Given the description of an element on the screen output the (x, y) to click on. 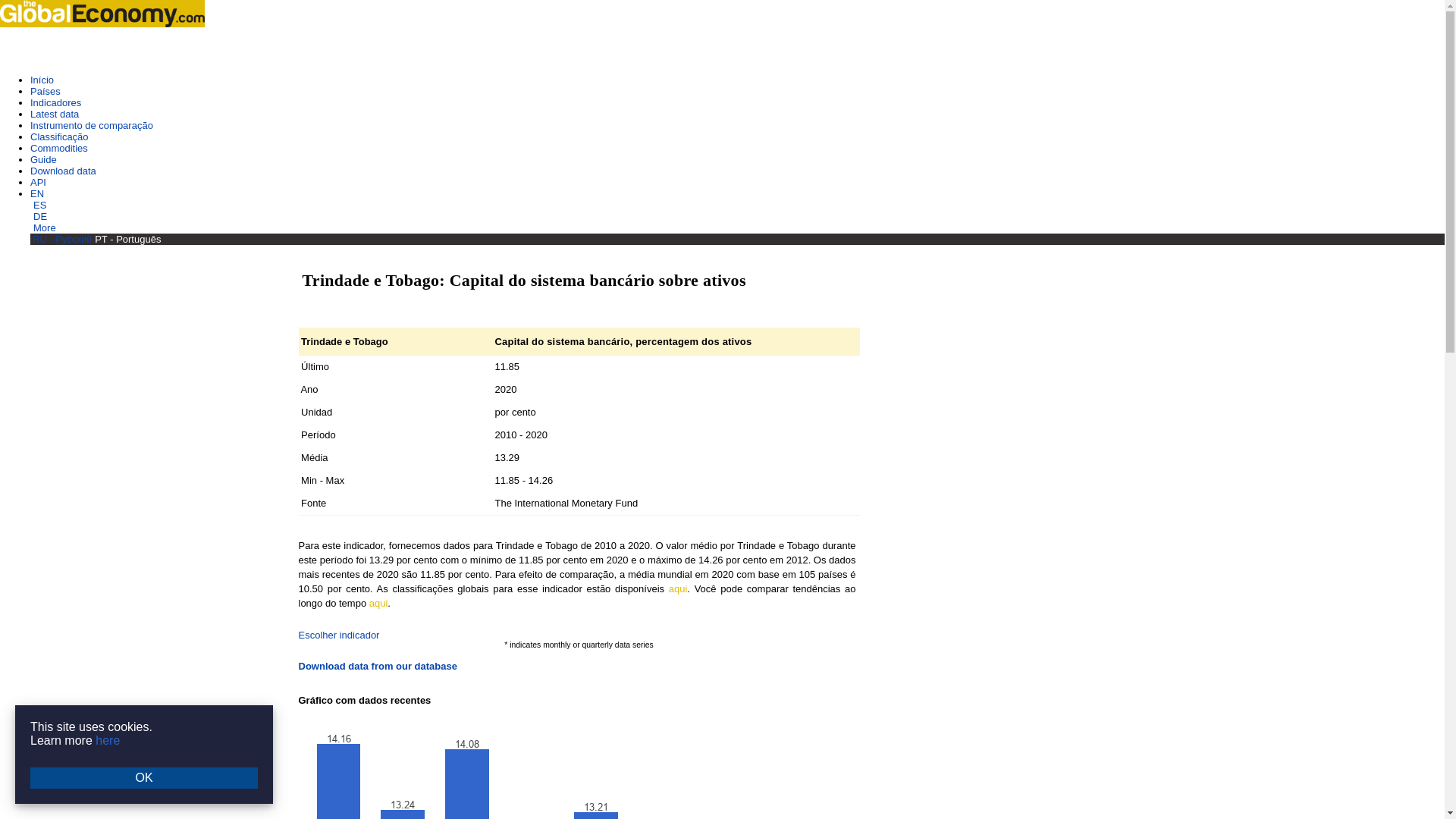
EN (38, 193)
More (44, 227)
ES (39, 204)
Download data (63, 170)
DE (39, 215)
Download data from our database (377, 665)
The International Monetary Fund (566, 502)
Commodities (58, 147)
aqui (677, 588)
aqui (378, 603)
